Given the description of an element on the screen output the (x, y) to click on. 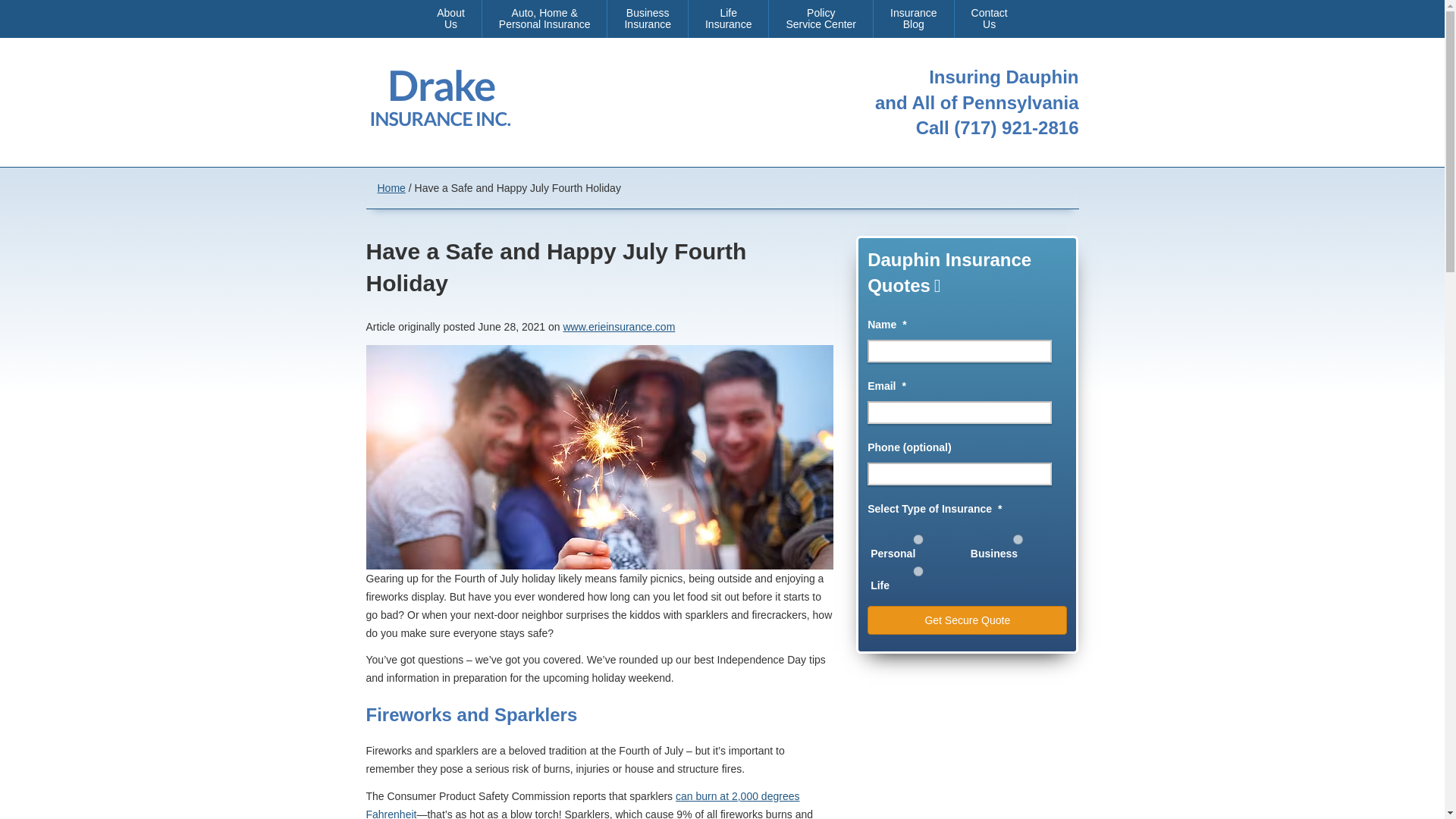
Personal (990, 18)
Business (820, 18)
independencelg.jpeg (728, 18)
Life (913, 18)
